Given the description of an element on the screen output the (x, y) to click on. 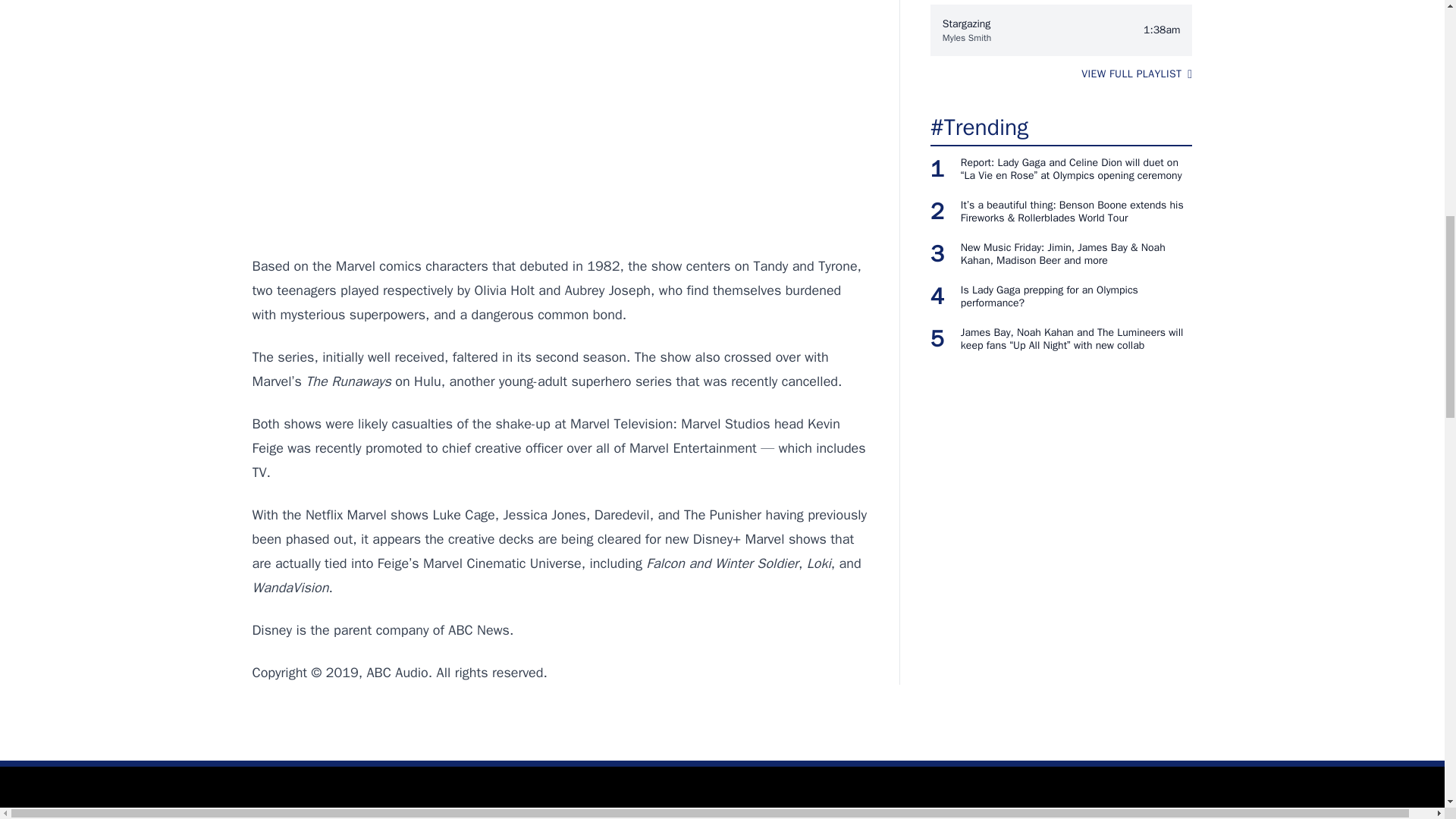
3rd party ad content (560, 128)
